Given the description of an element on the screen output the (x, y) to click on. 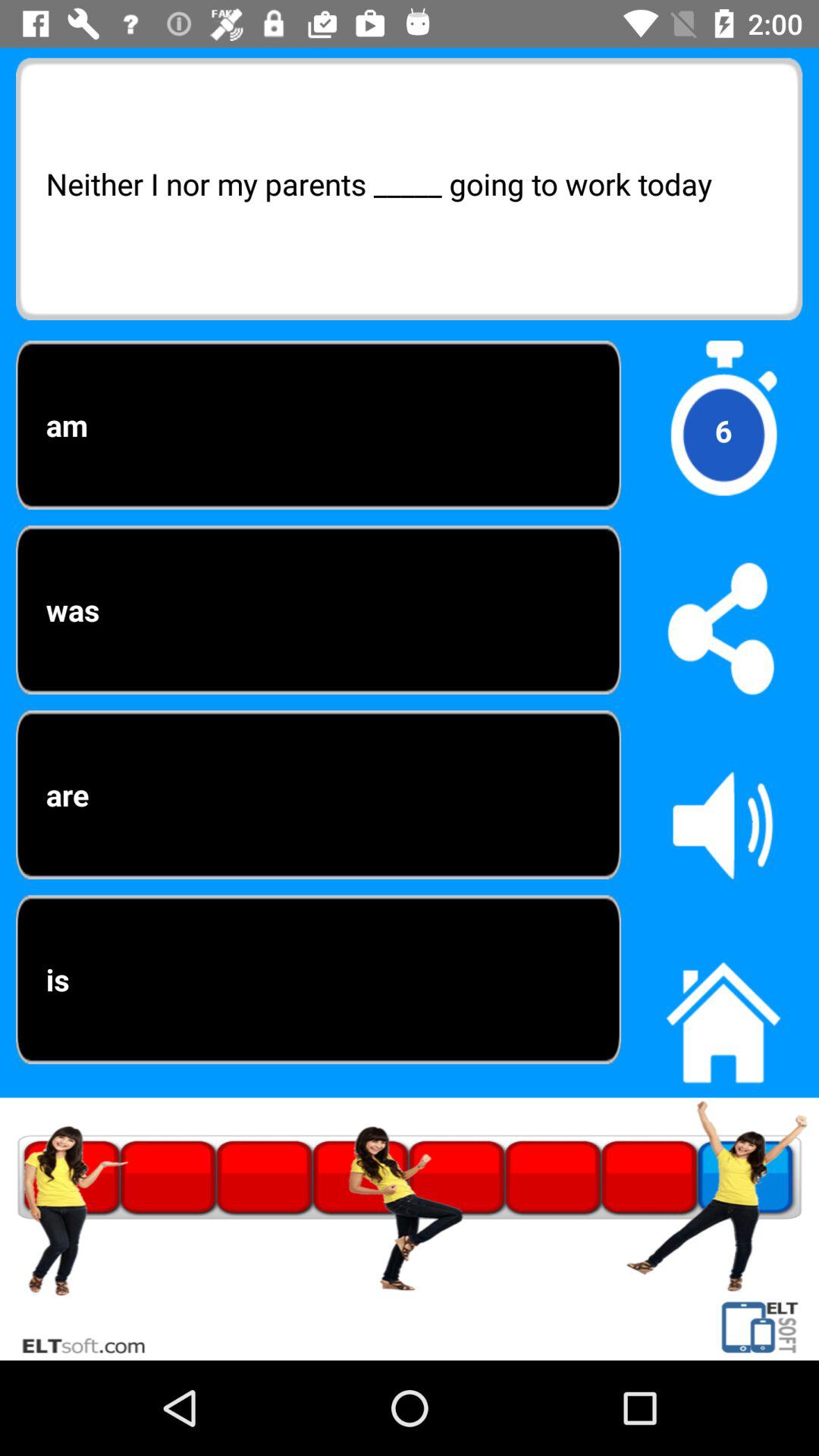
turn off the am icon (318, 424)
